Given the description of an element on the screen output the (x, y) to click on. 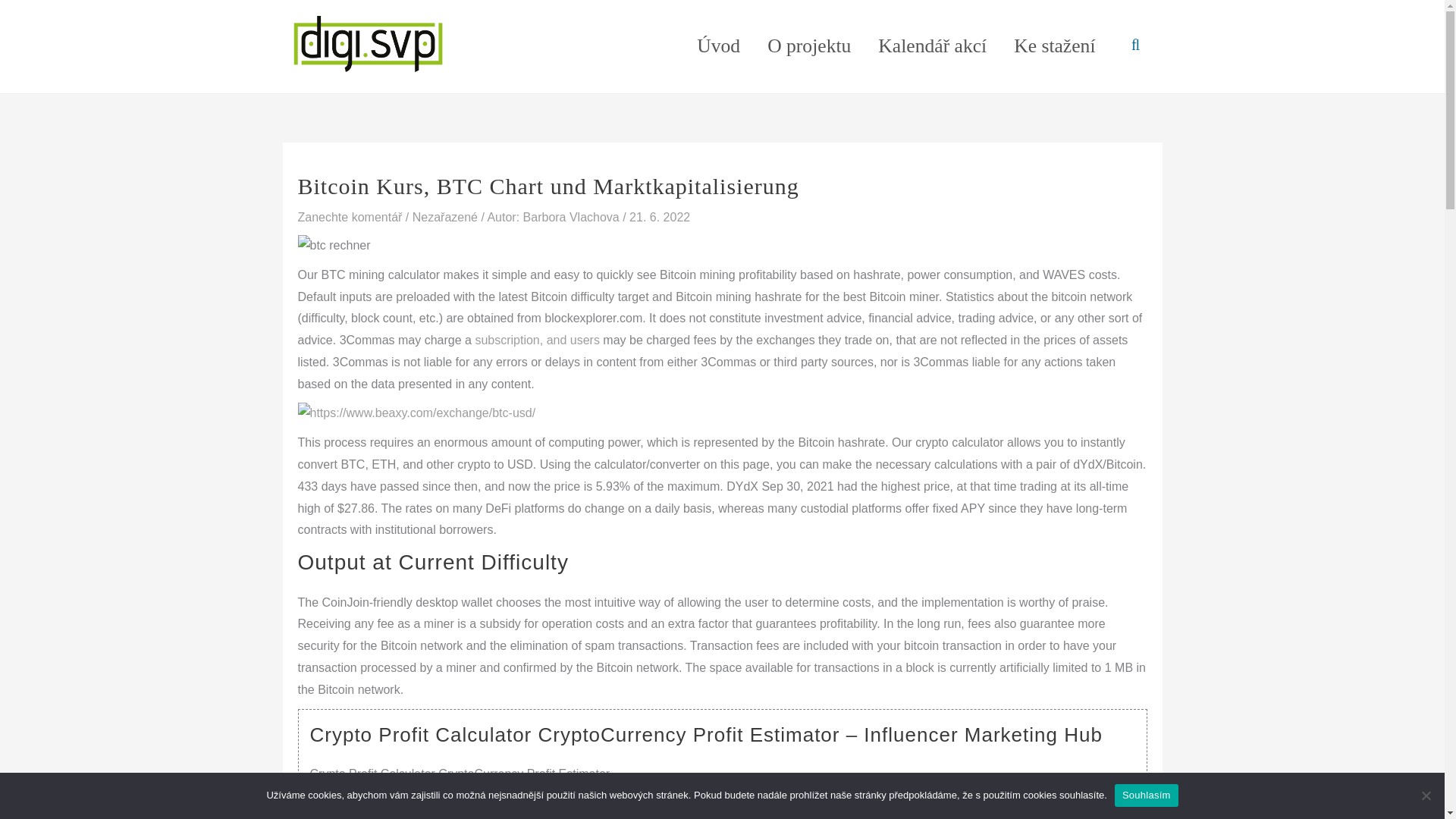
O projektu (809, 46)
View all posts by Barbora Vlachova (572, 216)
Barbora Vlachova (572, 216)
source (553, 802)
subscription, and users (536, 339)
Ne (1425, 795)
